Given the description of an element on the screen output the (x, y) to click on. 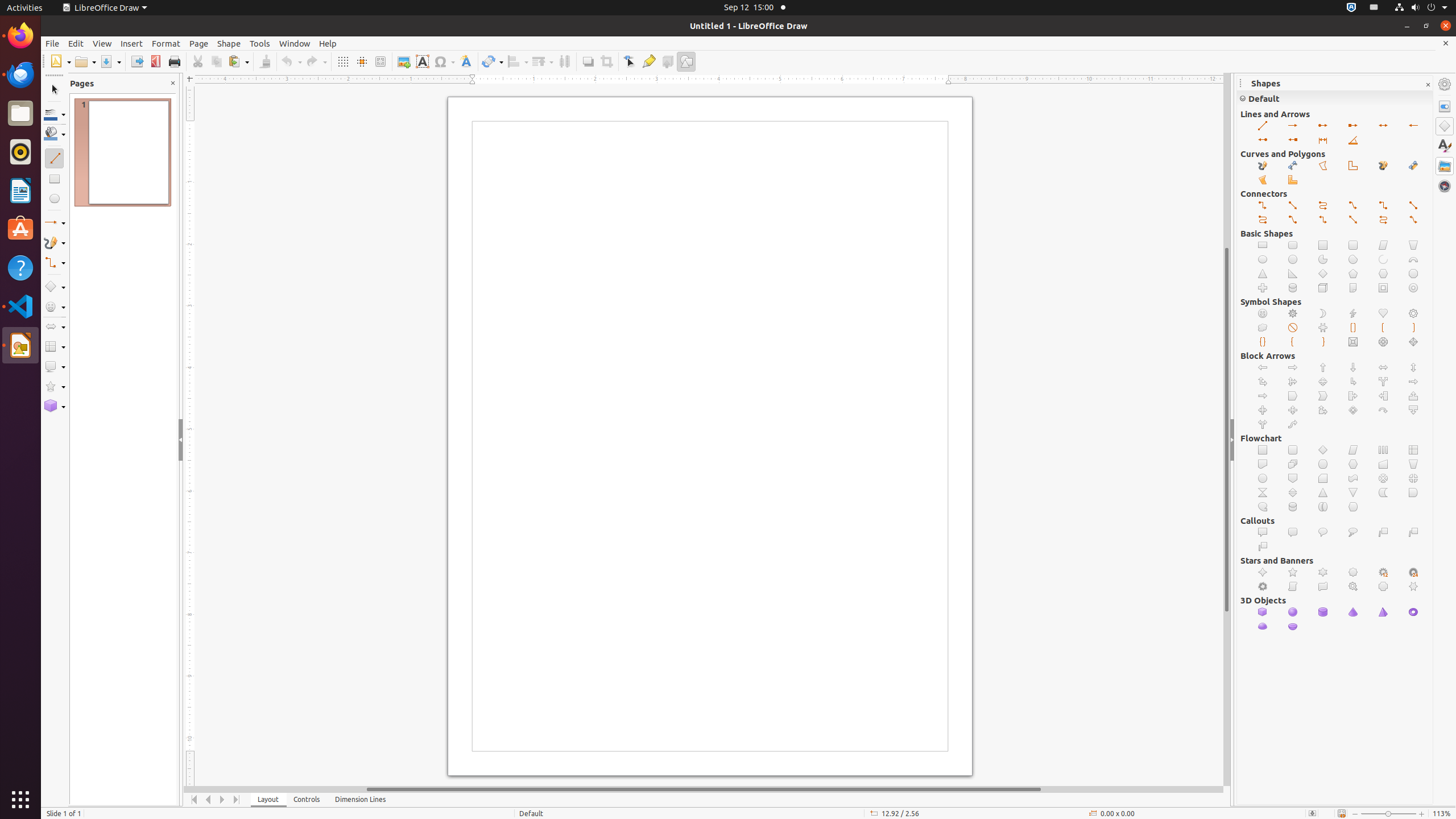
Line Ends with Arrow Element type: list-item (1292, 125)
Octagon Element type: list-item (1413, 273)
Edit Element type: menu (75, 43)
Connector Element type: list-item (1383, 205)
Thunderbird Mail Element type: push-button (20, 74)
